Given the description of an element on the screen output the (x, y) to click on. 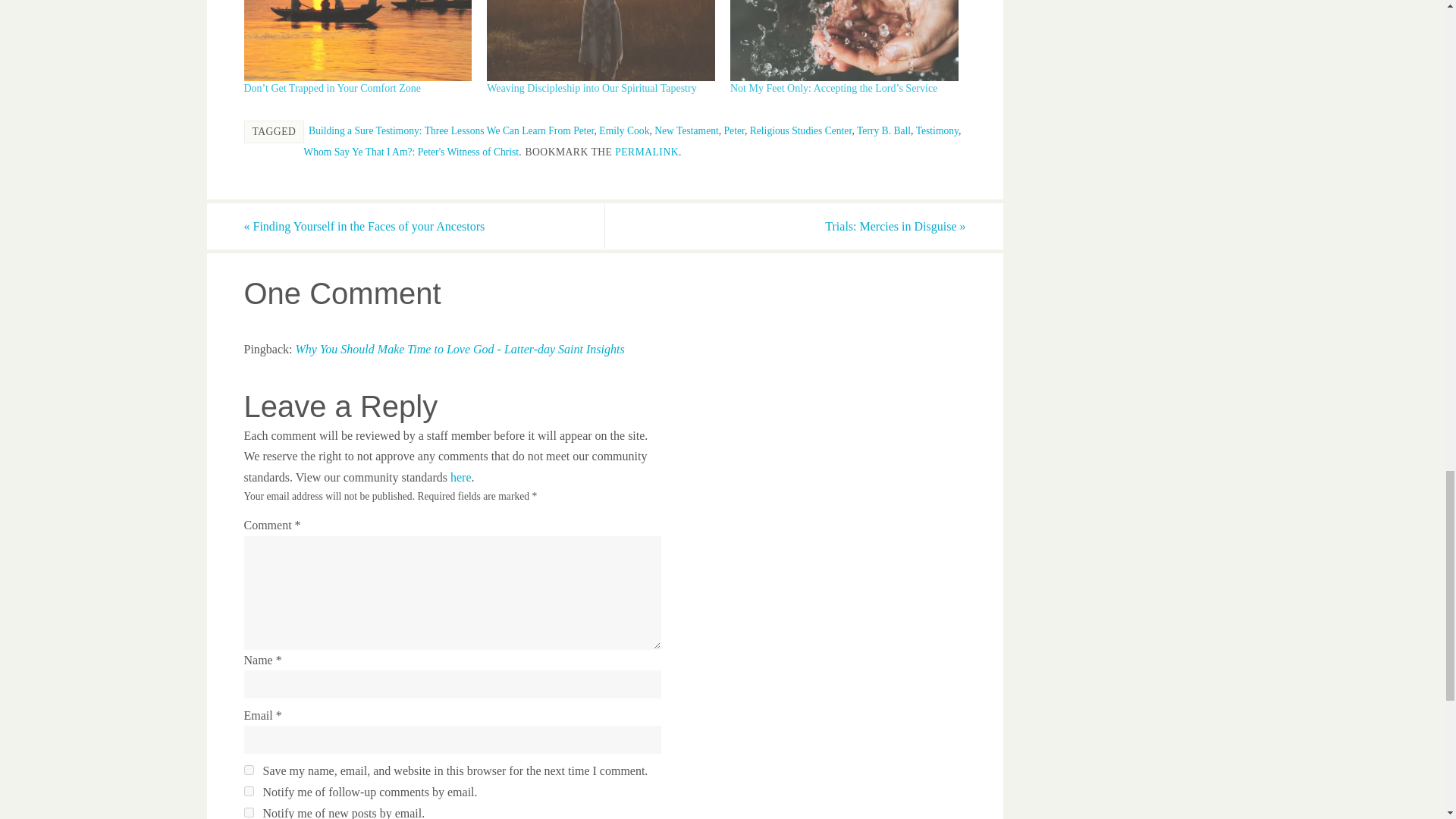
subscribe (248, 812)
yes (248, 769)
subscribe (248, 791)
Weaving Discipleship into Our Spiritual Tapestry (600, 40)
Weaving Discipleship into Our Spiritual Tapestry (590, 88)
